Given the description of an element on the screen output the (x, y) to click on. 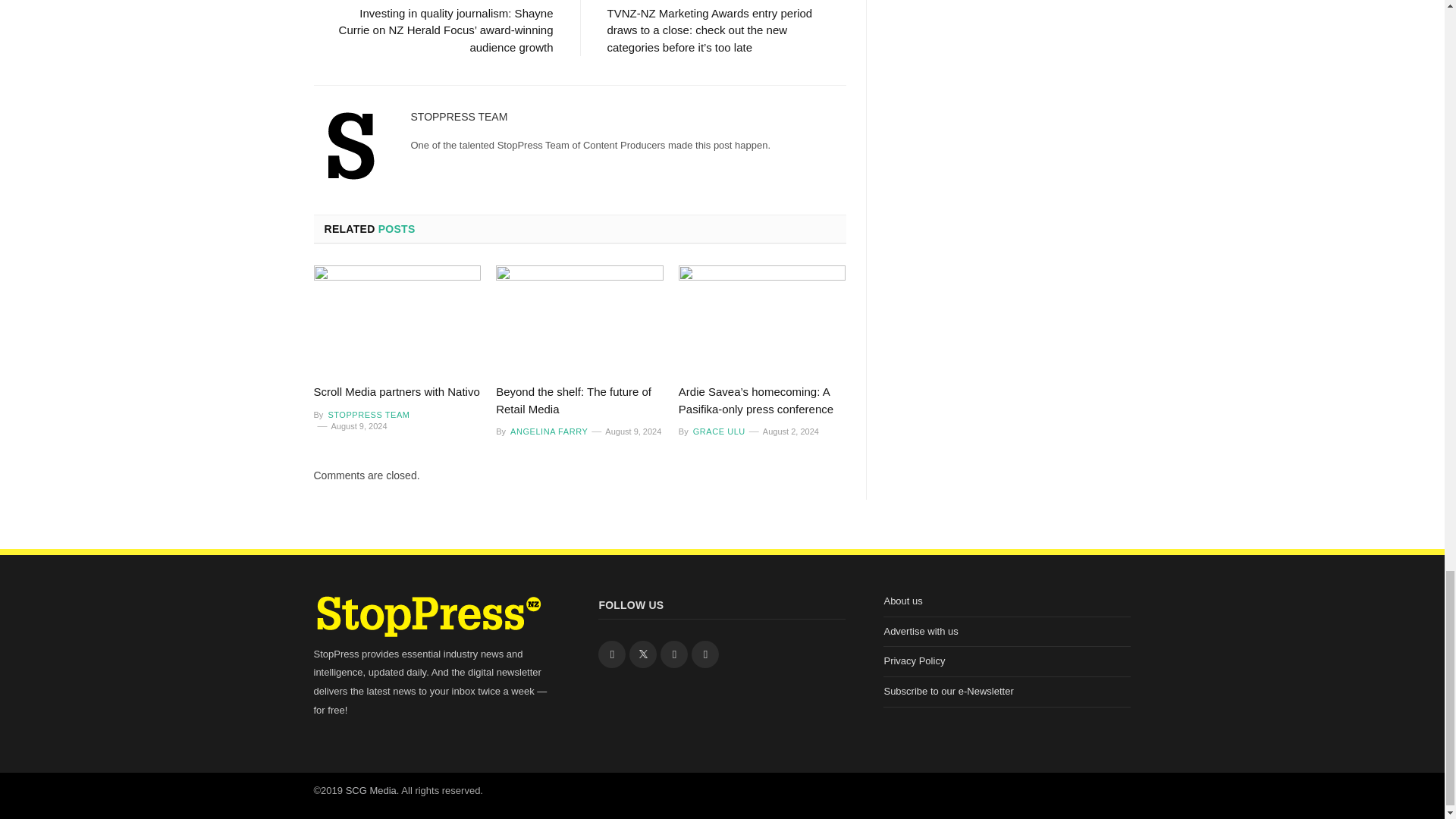
Posts by StopPress Team (366, 414)
Posts by StopPress Team (459, 116)
Scroll Media partners with Nativo (397, 319)
Scroll Media partners with Nativo (397, 391)
